Given the description of an element on the screen output the (x, y) to click on. 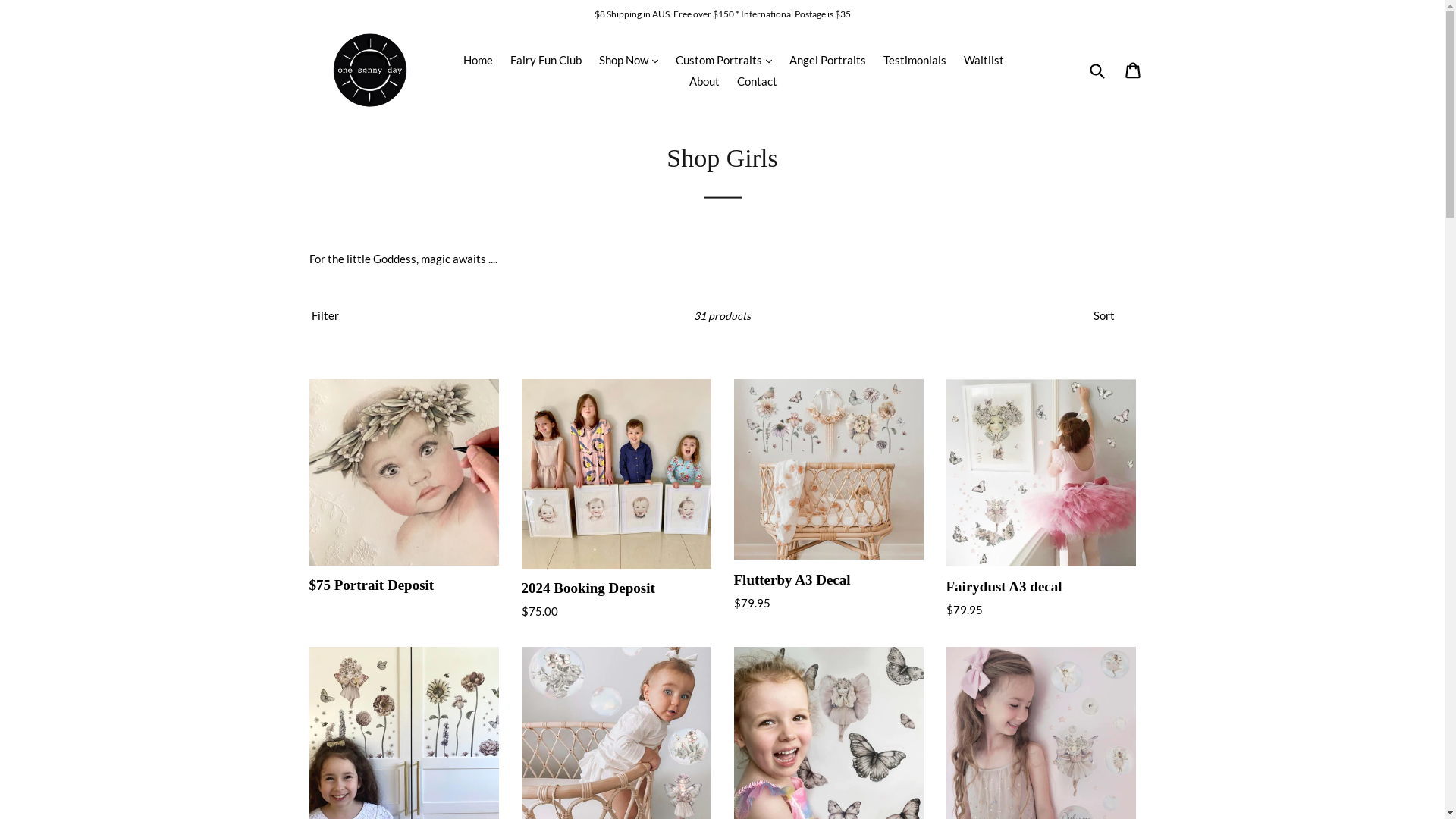
Fairy Fun Club Element type: text (545, 59)
$75 Portrait Deposit Element type: text (403, 487)
Contact Element type: text (756, 81)
Fairydust A3 decal
Regular price
$79.95 Element type: text (1040, 498)
Waitlist Element type: text (983, 59)
Cart
Cart Element type: text (1133, 70)
Testimonials Element type: text (914, 59)
Angel Portraits Element type: text (827, 59)
Home Element type: text (477, 59)
Flutterby A3 Decal
Regular price
$79.95 Element type: text (828, 495)
About Element type: text (704, 81)
Submit Element type: text (1096, 70)
2024 Booking Deposit
Regular price
$75.00 Element type: text (616, 499)
